Given the description of an element on the screen output the (x, y) to click on. 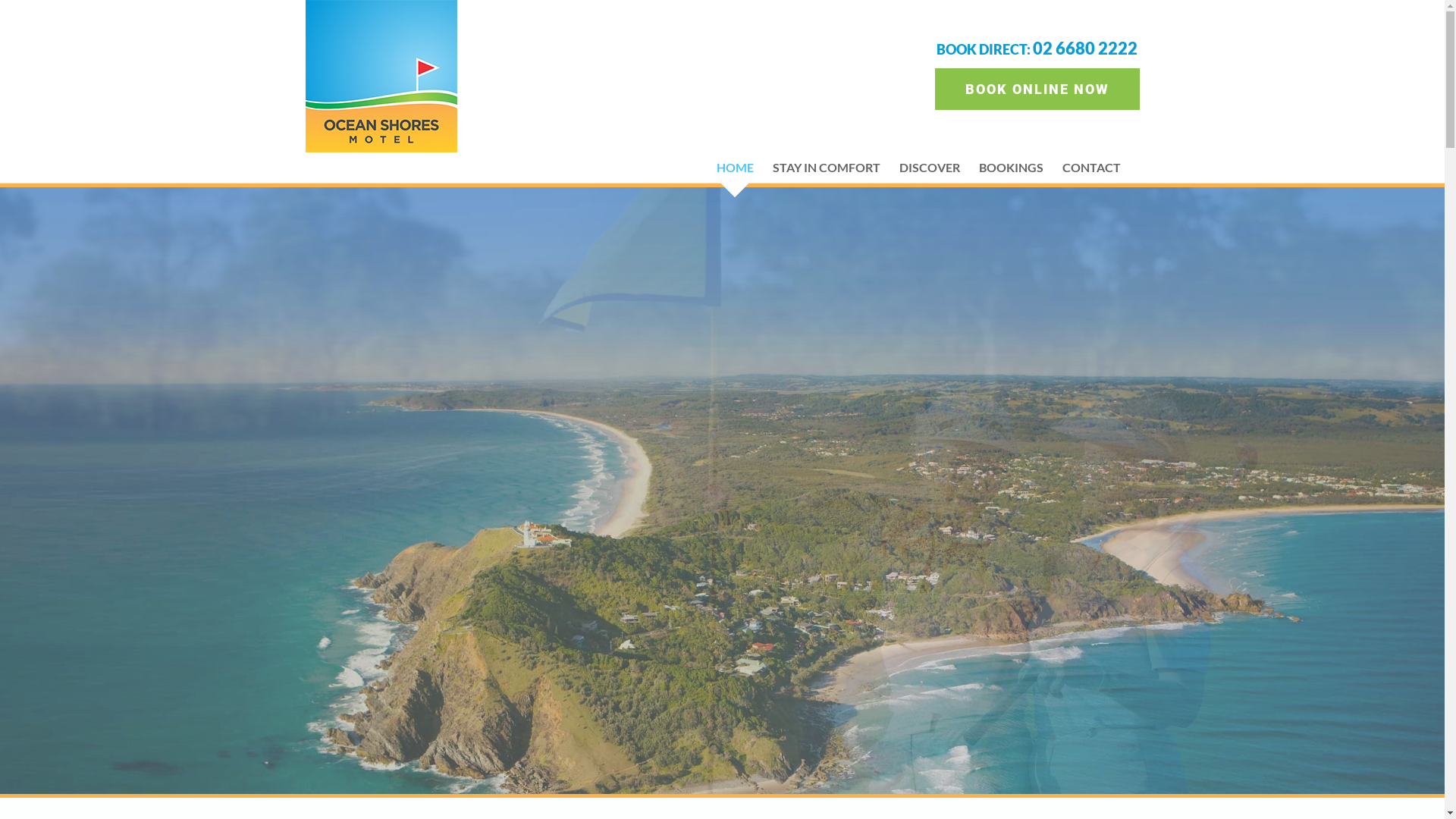
BOOKINGS Element type: text (1010, 167)
STAY IN COMFORT Element type: text (825, 167)
ENQUIRE NOW Element type: text (390, 550)
BOOK ONLINE NOW Element type: text (1036, 88)
02 6680 2222 Element type: text (1084, 47)
HOME Element type: text (734, 167)
DISCOVER Element type: text (929, 167)
CONTACT Element type: text (1090, 167)
